Given the description of an element on the screen output the (x, y) to click on. 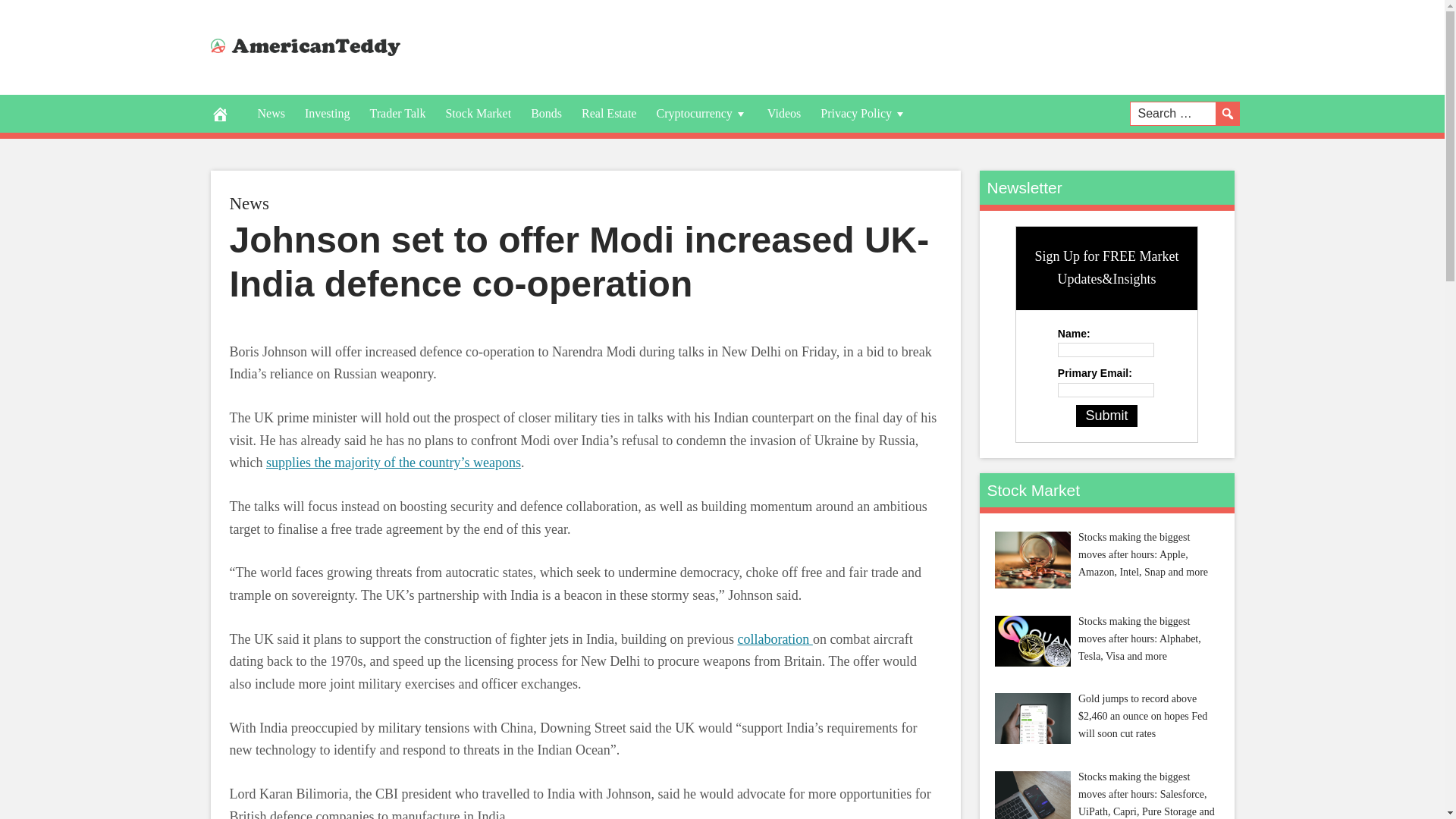
Submit (1106, 415)
Trader Talk (397, 113)
collaboration (774, 639)
Real Estate (609, 113)
Bonds (546, 113)
Cryptocurrency (701, 113)
News (270, 113)
Privacy Policy (863, 113)
News (247, 203)
Investing (327, 113)
